Given the description of an element on the screen output the (x, y) to click on. 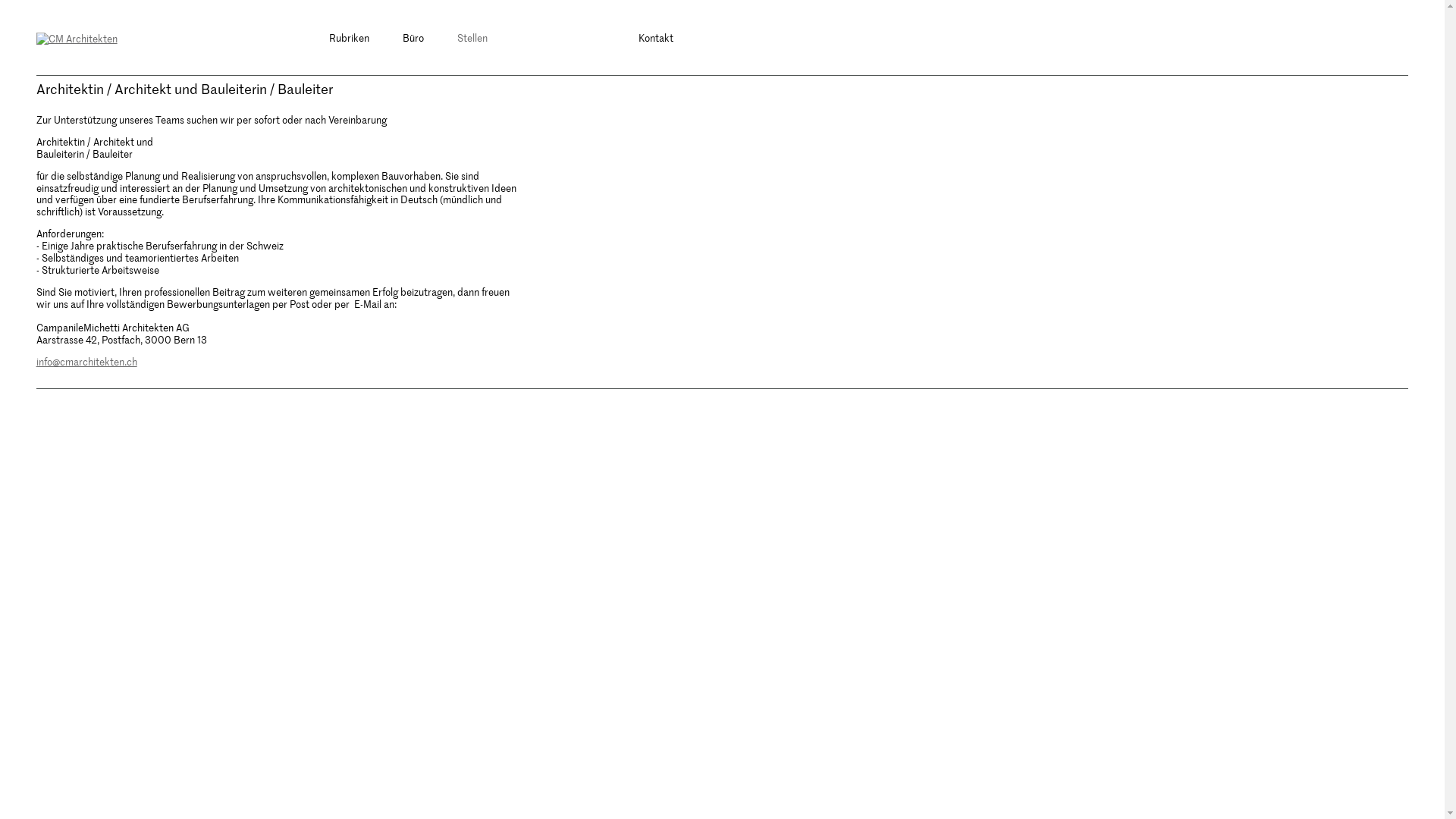
Kontakt Element type: text (655, 37)
Rubriken Element type: text (349, 37)
Stellen Element type: text (472, 37)
info@cmarchitekten.ch Element type: text (86, 361)
